Given the description of an element on the screen output the (x, y) to click on. 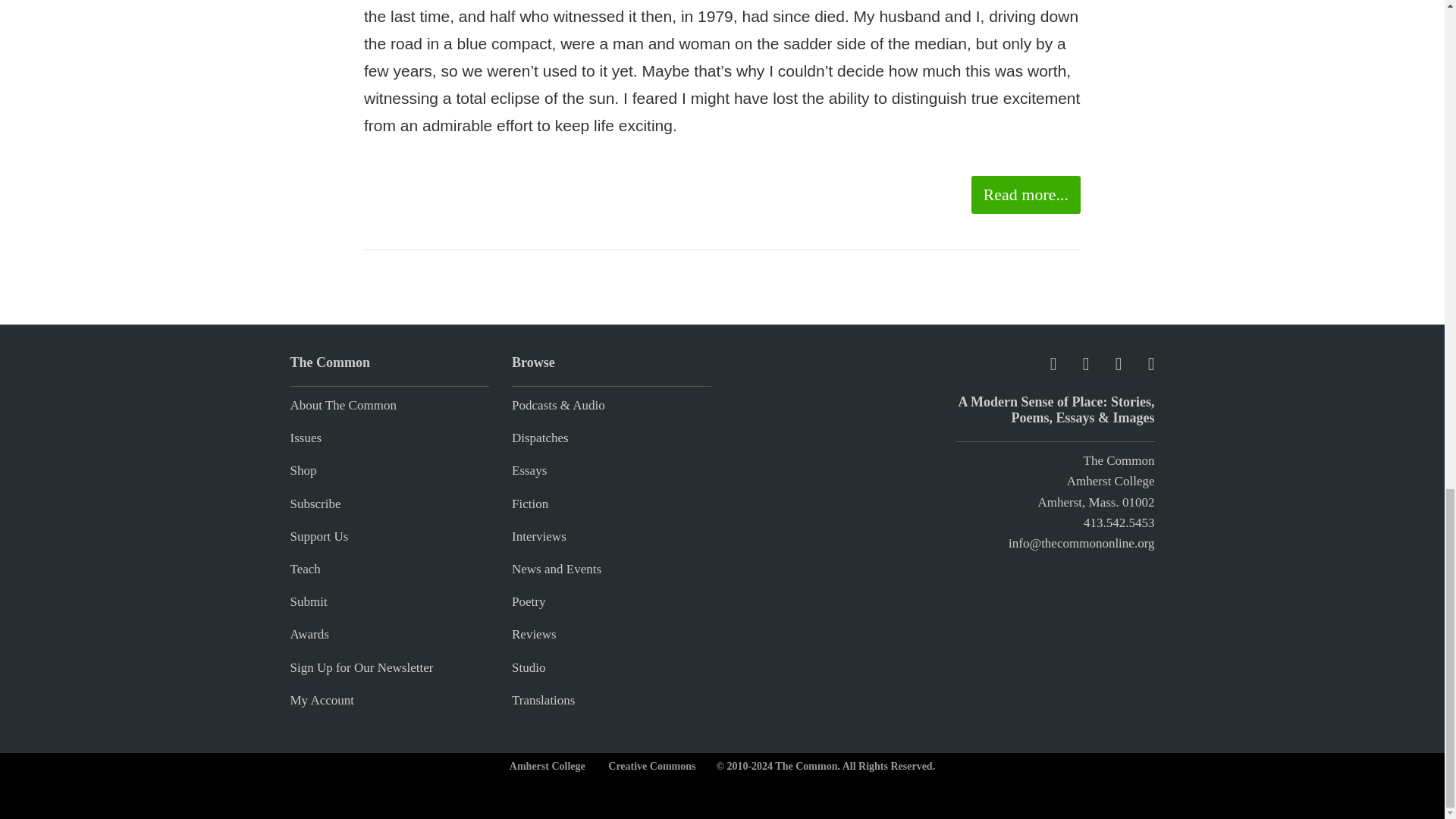
My Account (321, 699)
Reviews (534, 634)
Support Us (318, 536)
Fiction (530, 503)
Read more... (1025, 194)
Issues (305, 437)
Submit (307, 601)
Awards (309, 634)
Teach (304, 568)
Subscribe (314, 503)
